Given the description of an element on the screen output the (x, y) to click on. 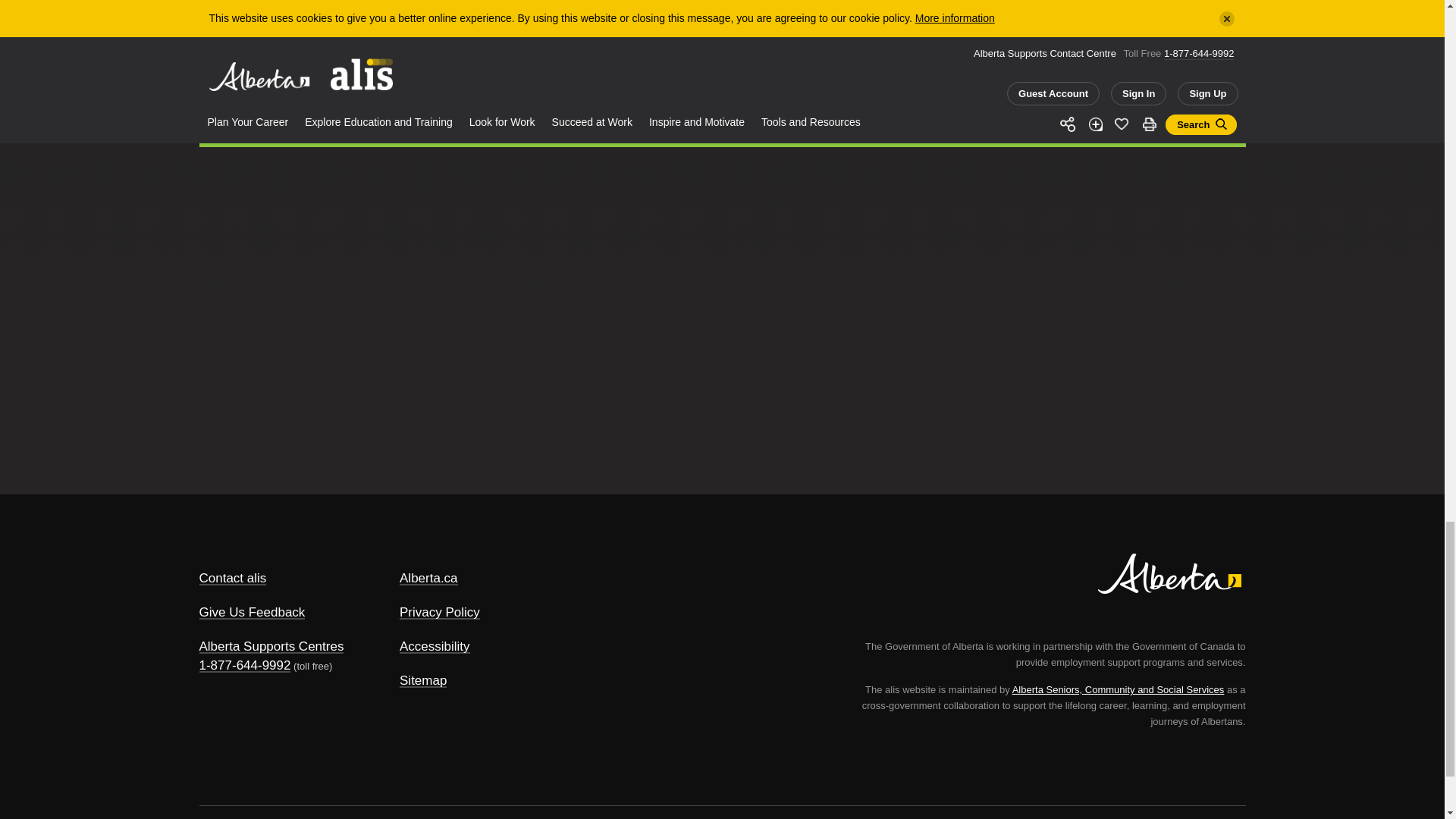
Sitemap (422, 680)
Alberta Supports Centres (270, 646)
Accessibility (434, 646)
Alberta Seniors, Community and Social Services (1117, 689)
Contact (232, 577)
Privacy (439, 612)
